Given the description of an element on the screen output the (x, y) to click on. 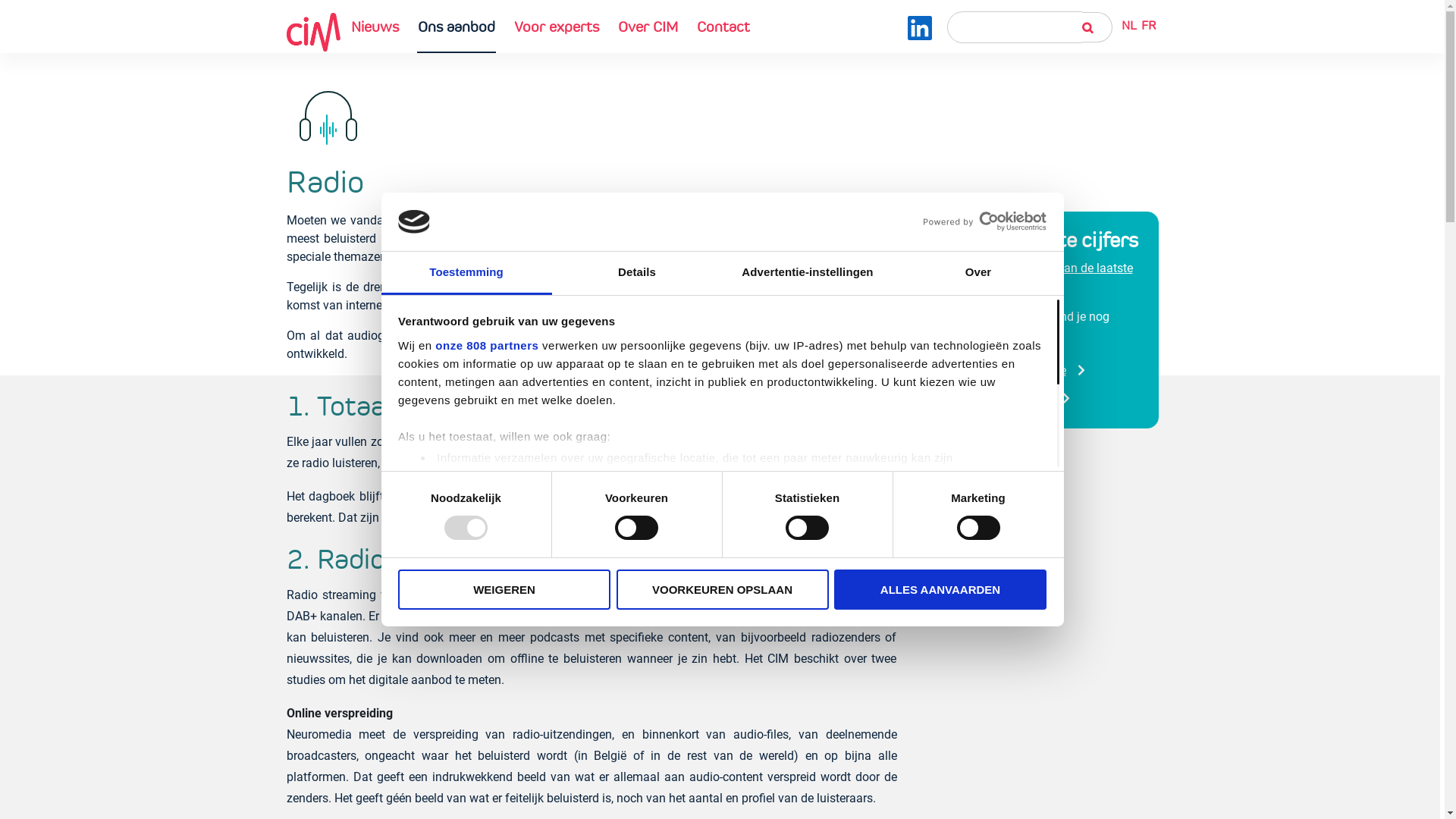
NL Element type: text (1128, 25)
Ons aanbod Element type: text (456, 26)
Home Element type: hover (313, 31)
Nieuws Element type: text (374, 26)
Over Element type: text (978, 272)
Naar een andere studie Element type: text (989, 398)
Advertentie-instellingen Element type: text (806, 272)
WEIGEREN Element type: text (504, 589)
onze 808 partners Element type: text (486, 344)
detailgedeelte Element type: text (942, 495)
Contact Element type: text (723, 26)
Toestemming Element type: text (465, 272)
de resultaten van de laatste golf Element type: text (1030, 276)
VOORKEUREN OPSLAAN Element type: text (721, 589)
ALLES AANVAARDEN Element type: text (940, 589)
Details Element type: text (637, 272)
FR Element type: text (1148, 25)
Voor experts Element type: text (555, 26)
Over CIM Element type: text (647, 26)
